Given the description of an element on the screen output the (x, y) to click on. 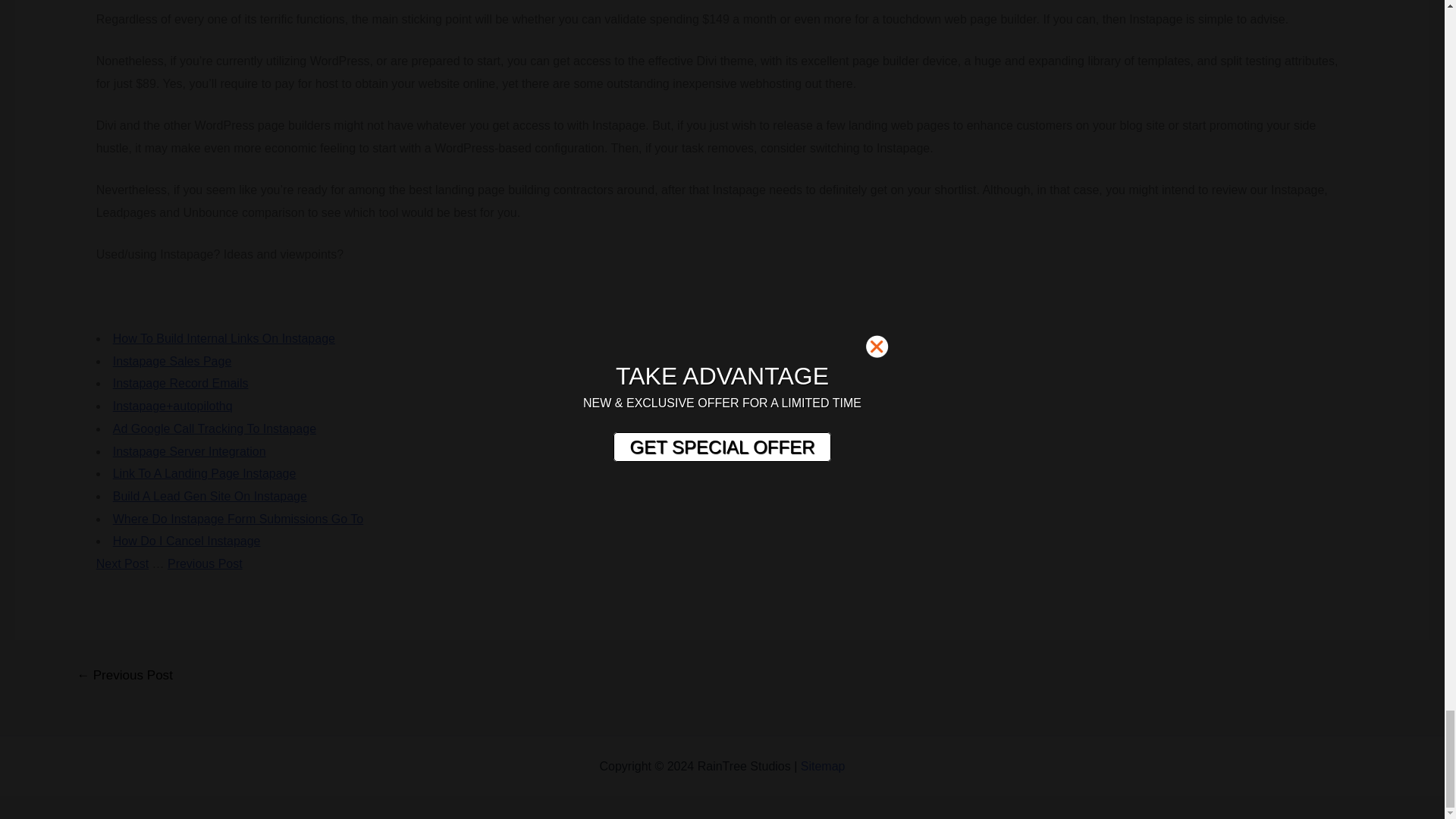
Build A Lead Gen Site On Instapage (210, 495)
Where Do Instapage Form Submissions Go To (238, 518)
Previous Post (205, 563)
Instapage Record Emails (180, 382)
How To Build Internal Links On Instapage (223, 338)
Ad Google Call Tracking To Instapage (214, 428)
Instapage Record Emails (180, 382)
Instapage Sales Page (172, 360)
Where Do Instapage Form Submissions Go To (238, 518)
Ad Google Call Tracking To Instapage (214, 428)
